Given the description of an element on the screen output the (x, y) to click on. 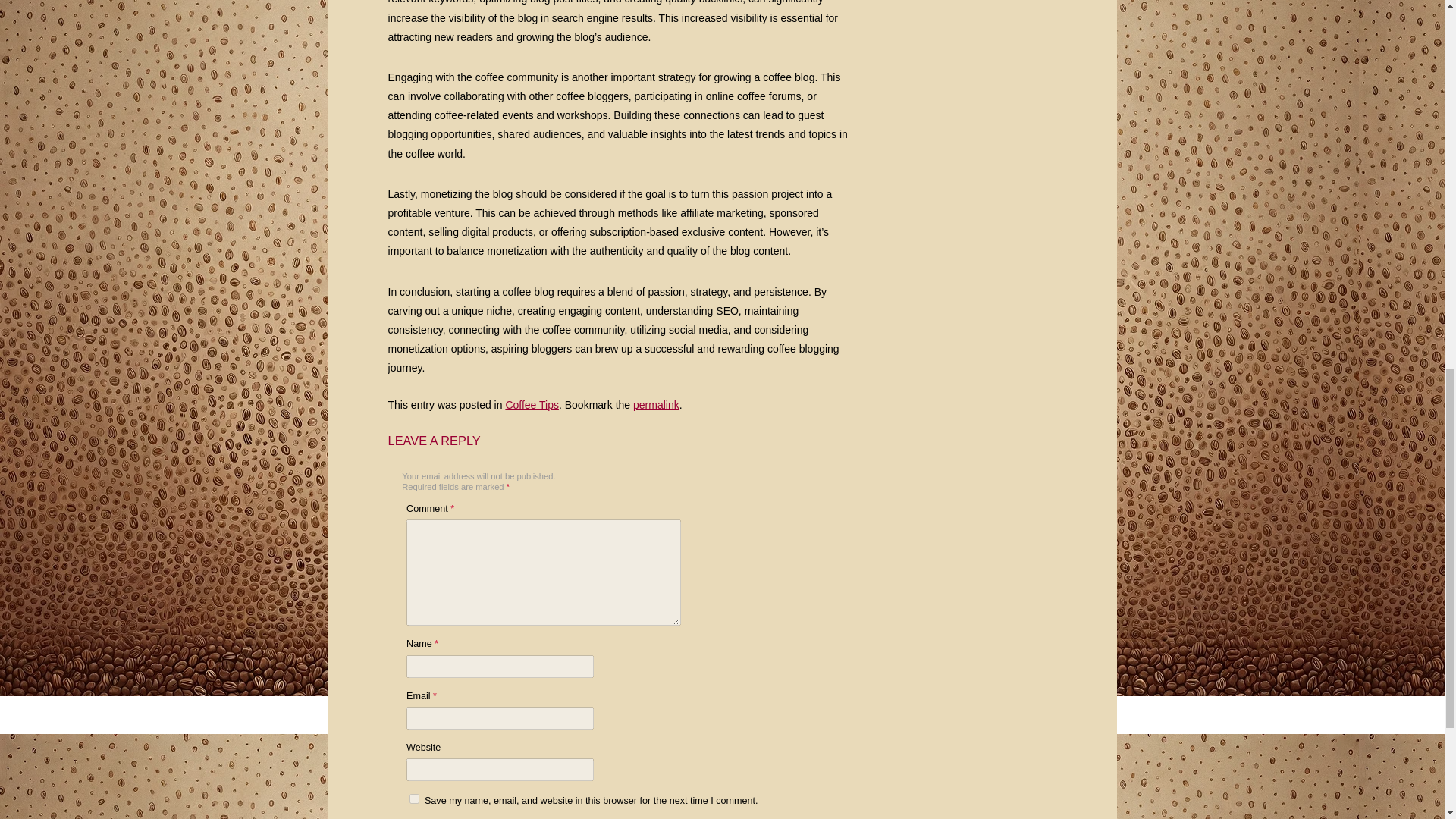
yes (414, 798)
Coffee Tips (532, 404)
permalink (656, 404)
